Given the description of an element on the screen output the (x, y) to click on. 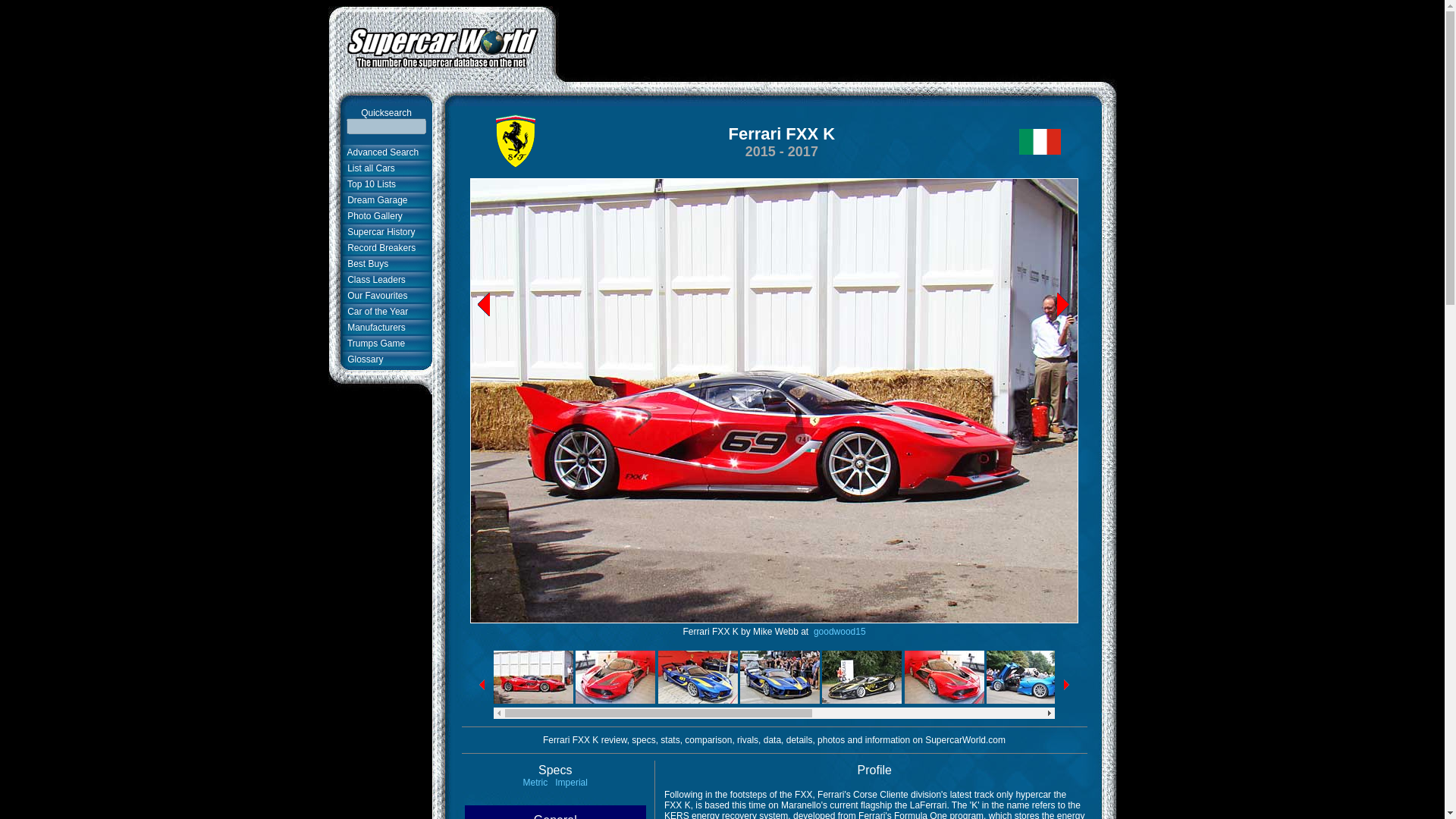
 goodwood15 (838, 631)
Imperial (571, 782)
Advertisement (835, 39)
Metric (535, 782)
